Given the description of an element on the screen output the (x, y) to click on. 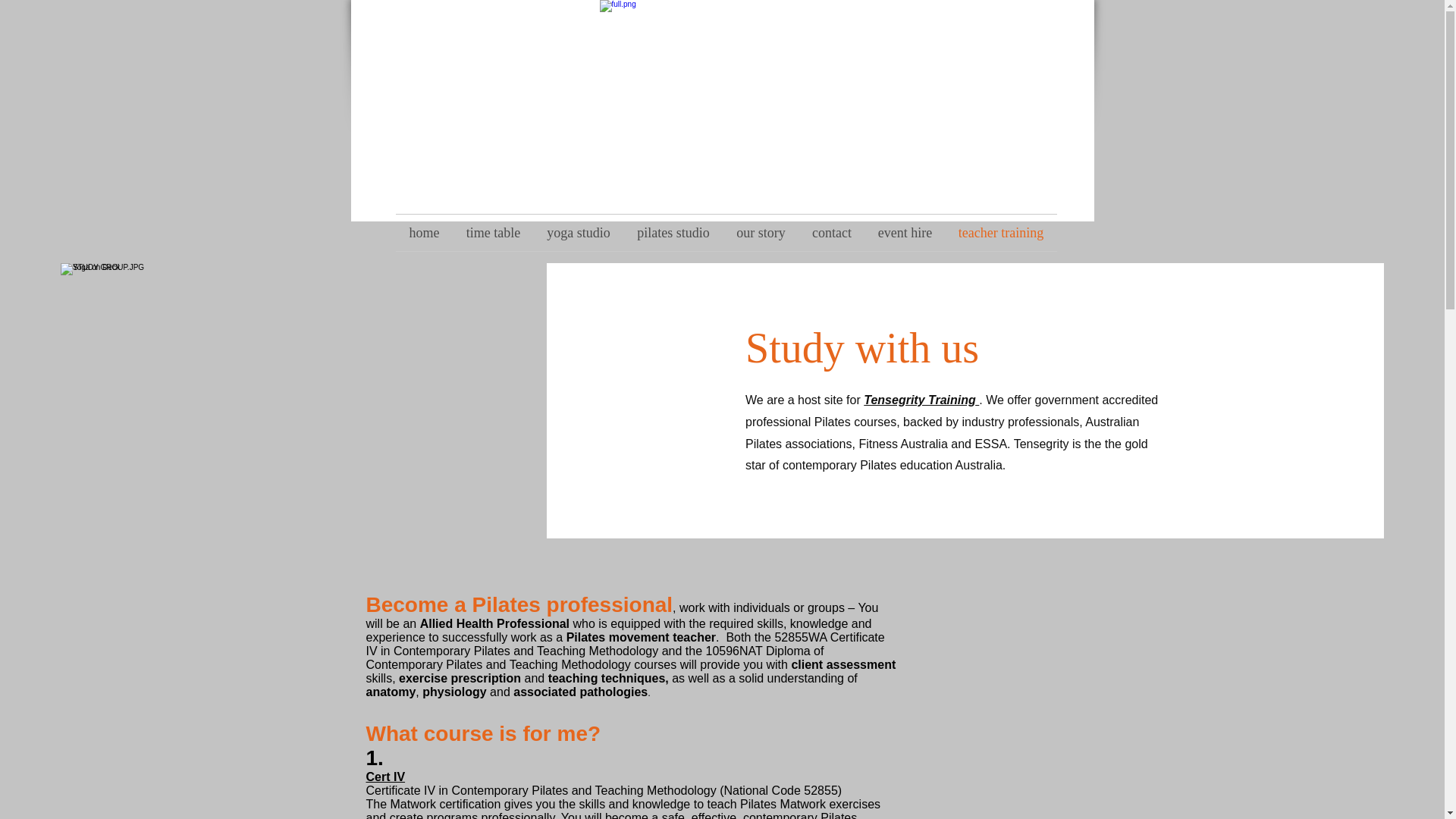
teacher training (1000, 232)
. We  (992, 399)
Cert IV (384, 776)
time table (493, 232)
contact (831, 232)
Tensegrity Training  (920, 399)
pilates studio (672, 232)
event hire (904, 232)
our story (761, 232)
yoga studio (579, 232)
home (424, 232)
